Given the description of an element on the screen output the (x, y) to click on. 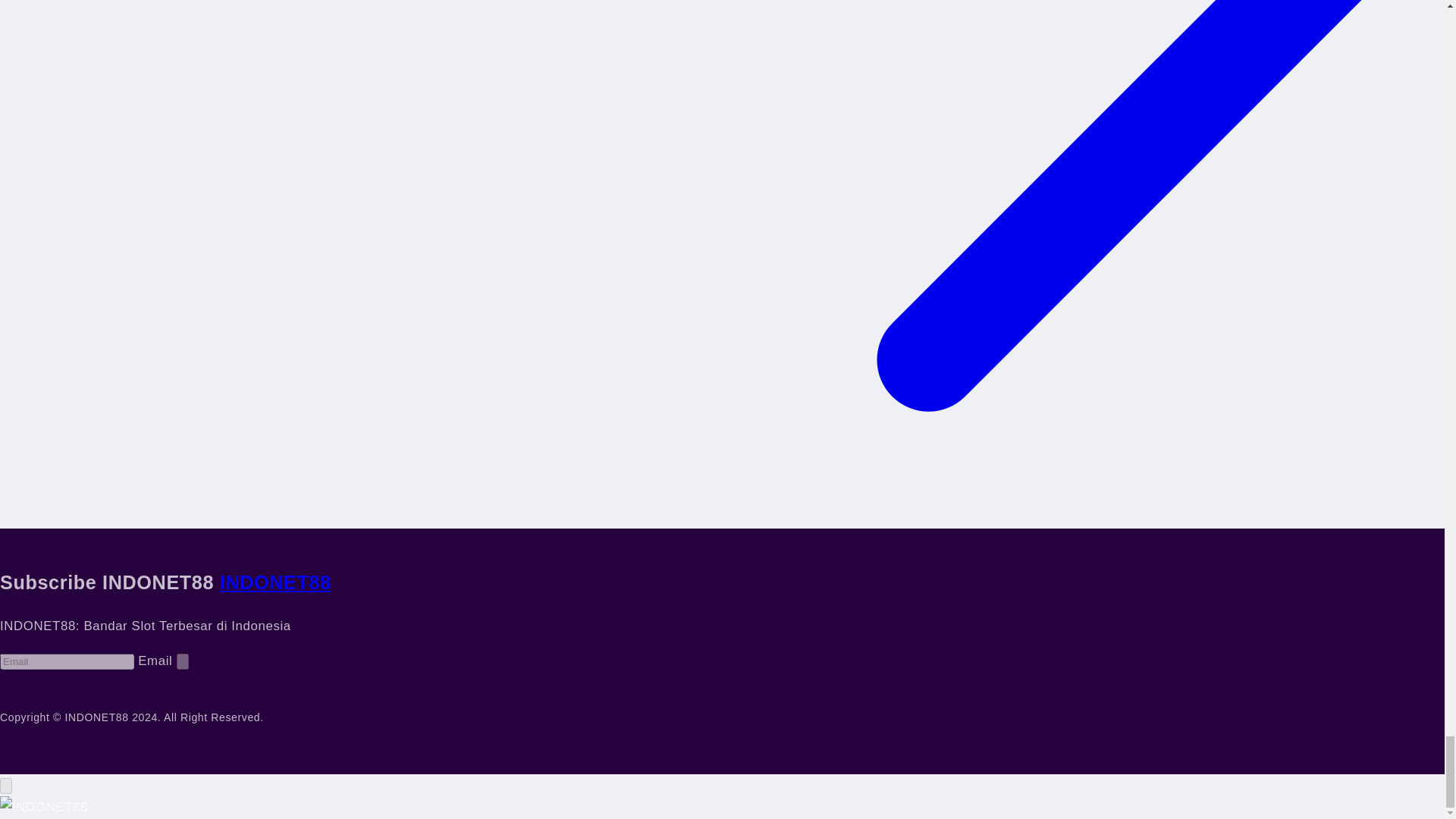
INDONET88 (275, 581)
